Given the description of an element on the screen output the (x, y) to click on. 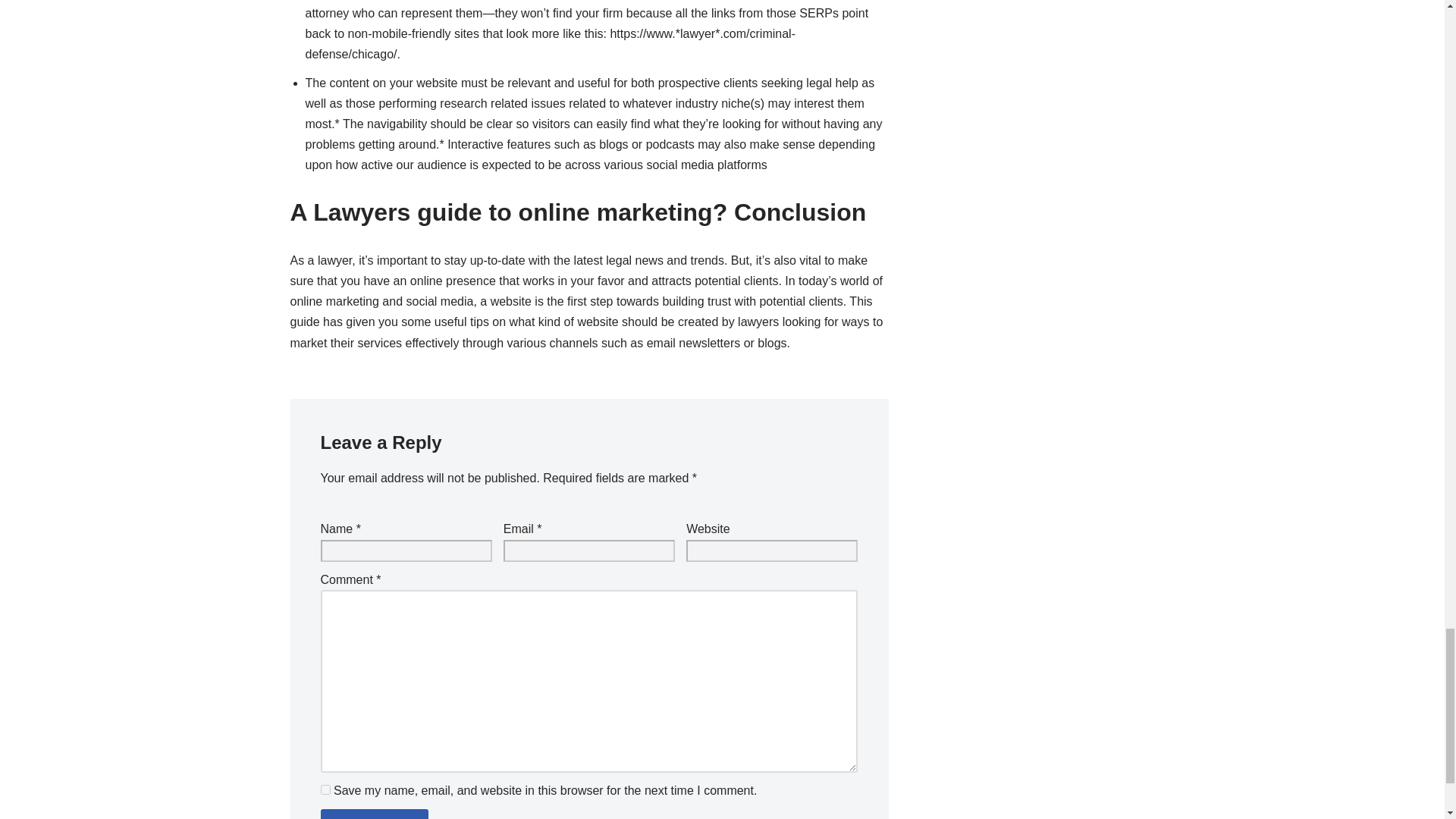
yes (325, 789)
Post Comment (374, 814)
Post Comment (374, 814)
